Given the description of an element on the screen output the (x, y) to click on. 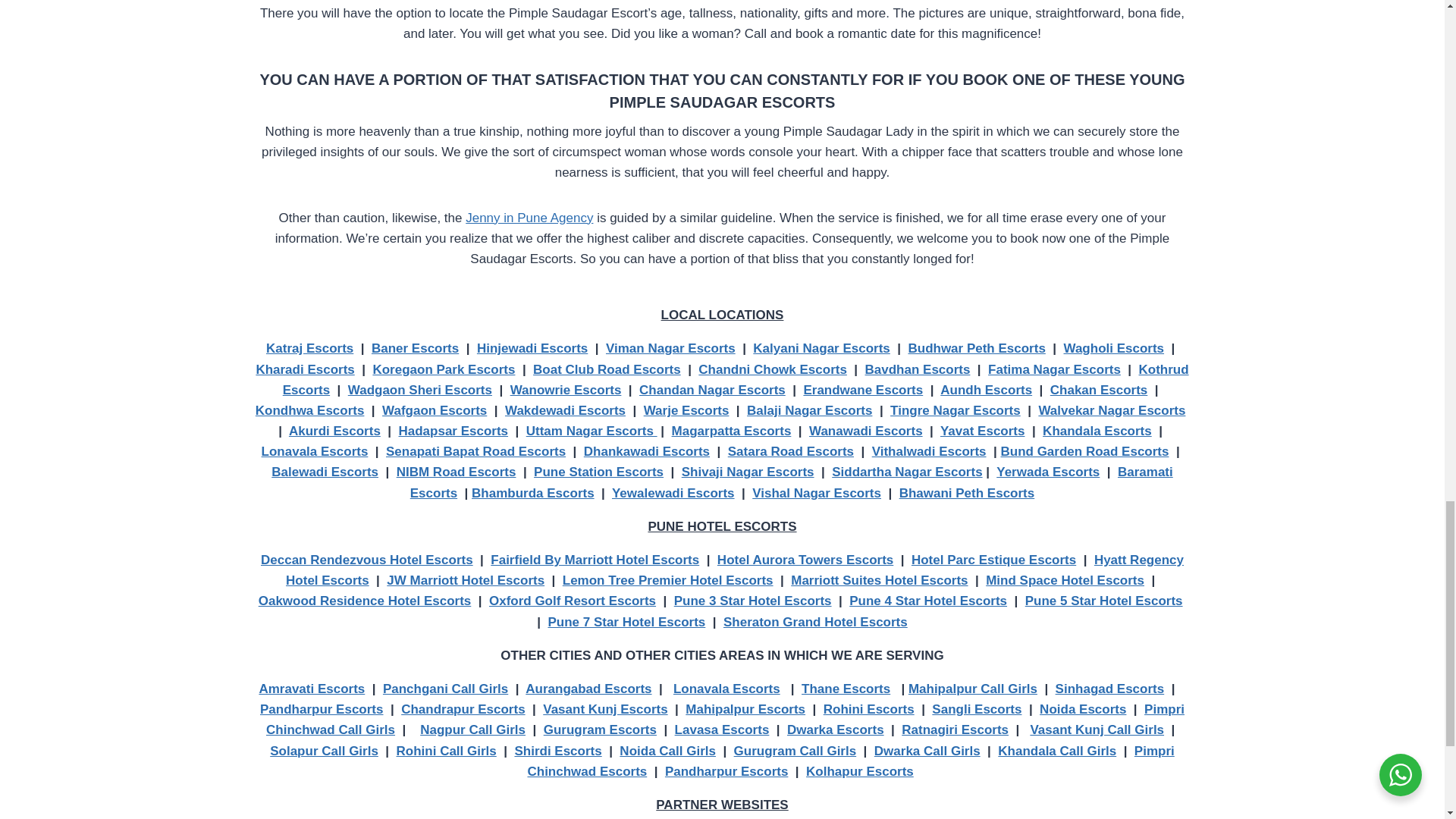
Hinjewadi Escorts (532, 348)
Tingre Nagar Escorts (954, 410)
Wakdewadi Escorts (565, 410)
Warje Escorts (686, 410)
Baner Escorts (414, 348)
Fatima Nagar Escorts (1054, 369)
Wanowrie Escorts (566, 390)
Akurdi Escorts (334, 431)
Kondhwa Escorts (310, 410)
Walvekar Nagar Escorts (1111, 410)
Budhwar Peth Escorts (976, 348)
Khandala Escorts (1096, 431)
Katraj Escorts (309, 348)
Chakan Escorts (1098, 390)
Kothrud Escorts (735, 379)
